Given the description of an element on the screen output the (x, y) to click on. 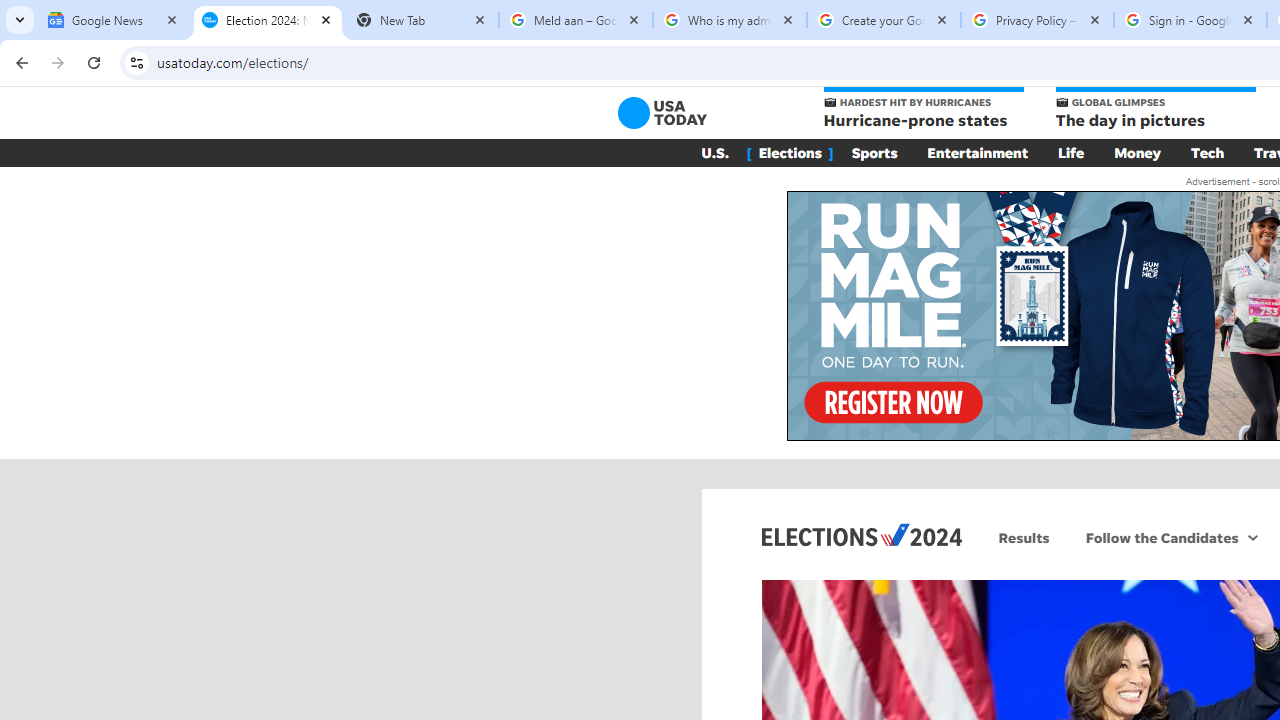
Who is my administrator? - Google Account Help (729, 20)
Money (1137, 152)
Sports (873, 152)
New Tab (421, 20)
More Follow the Candidates navigation (1252, 537)
USA TODAY (661, 112)
U.S. (714, 152)
